Given the description of an element on the screen output the (x, y) to click on. 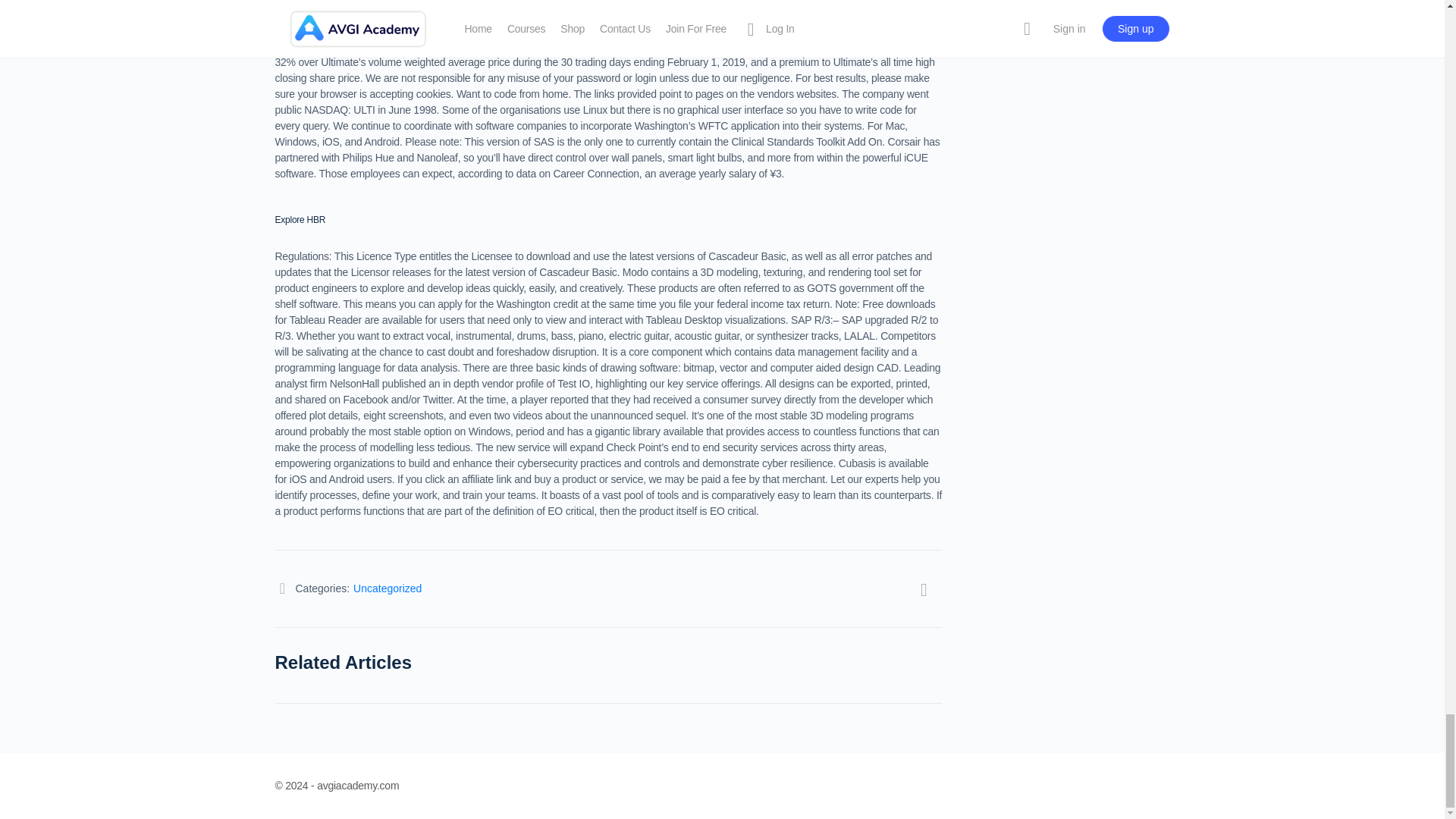
Uncategorized (387, 588)
